Given the description of an element on the screen output the (x, y) to click on. 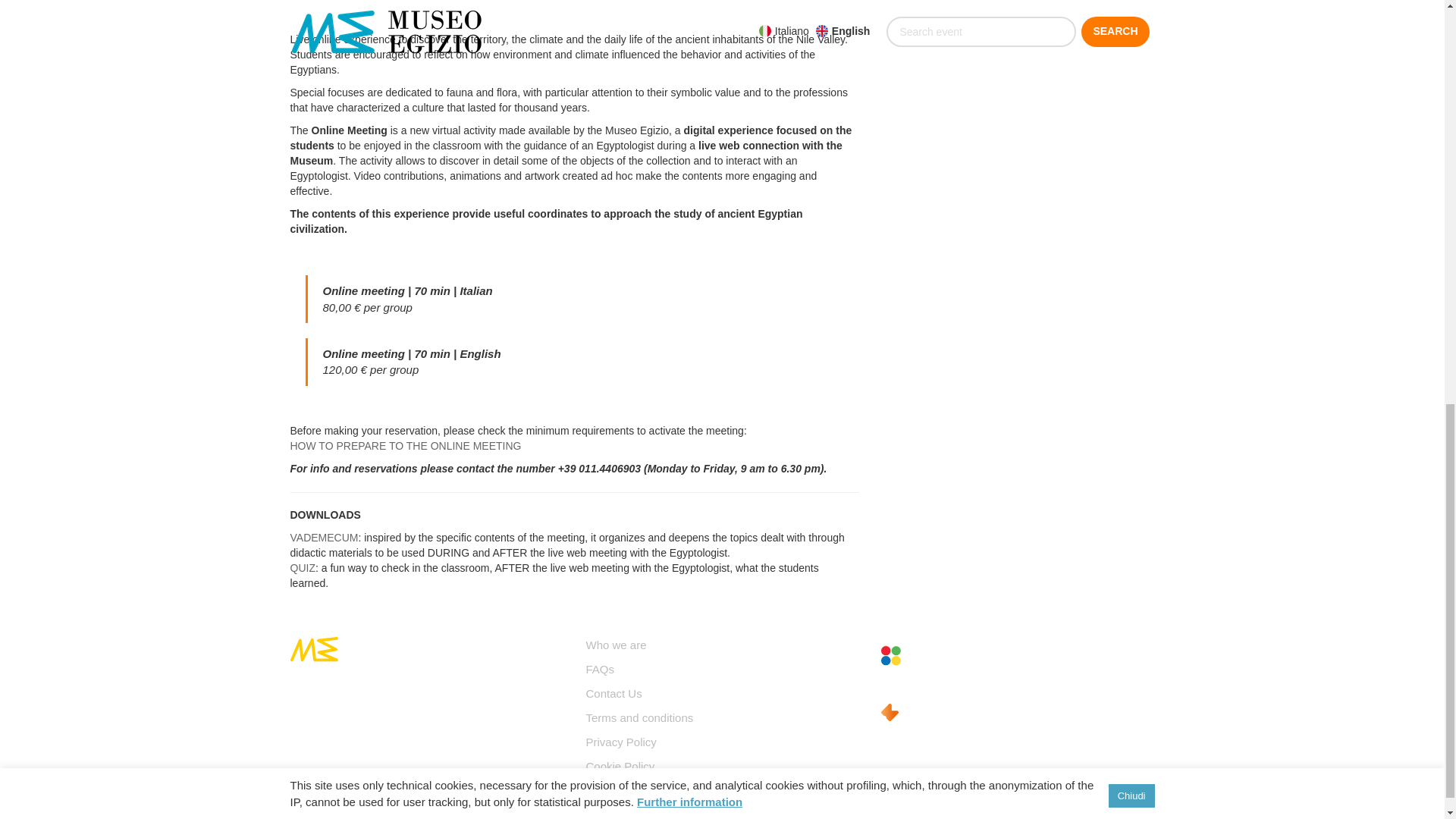
Terms and conditions (639, 717)
VADEMECUM (323, 537)
Privacy Policy (620, 741)
Contact Us (613, 693)
HOW TO PREPARE TO THE ONLINE MEETING (405, 445)
Concessionaria Servizi Museali, Didattica e Visite Guidate (918, 658)
Who we are (615, 644)
FAQs (599, 668)
Software Biglietteria (918, 712)
Cookie Policy (619, 766)
QUIZ (301, 567)
